Given the description of an element on the screen output the (x, y) to click on. 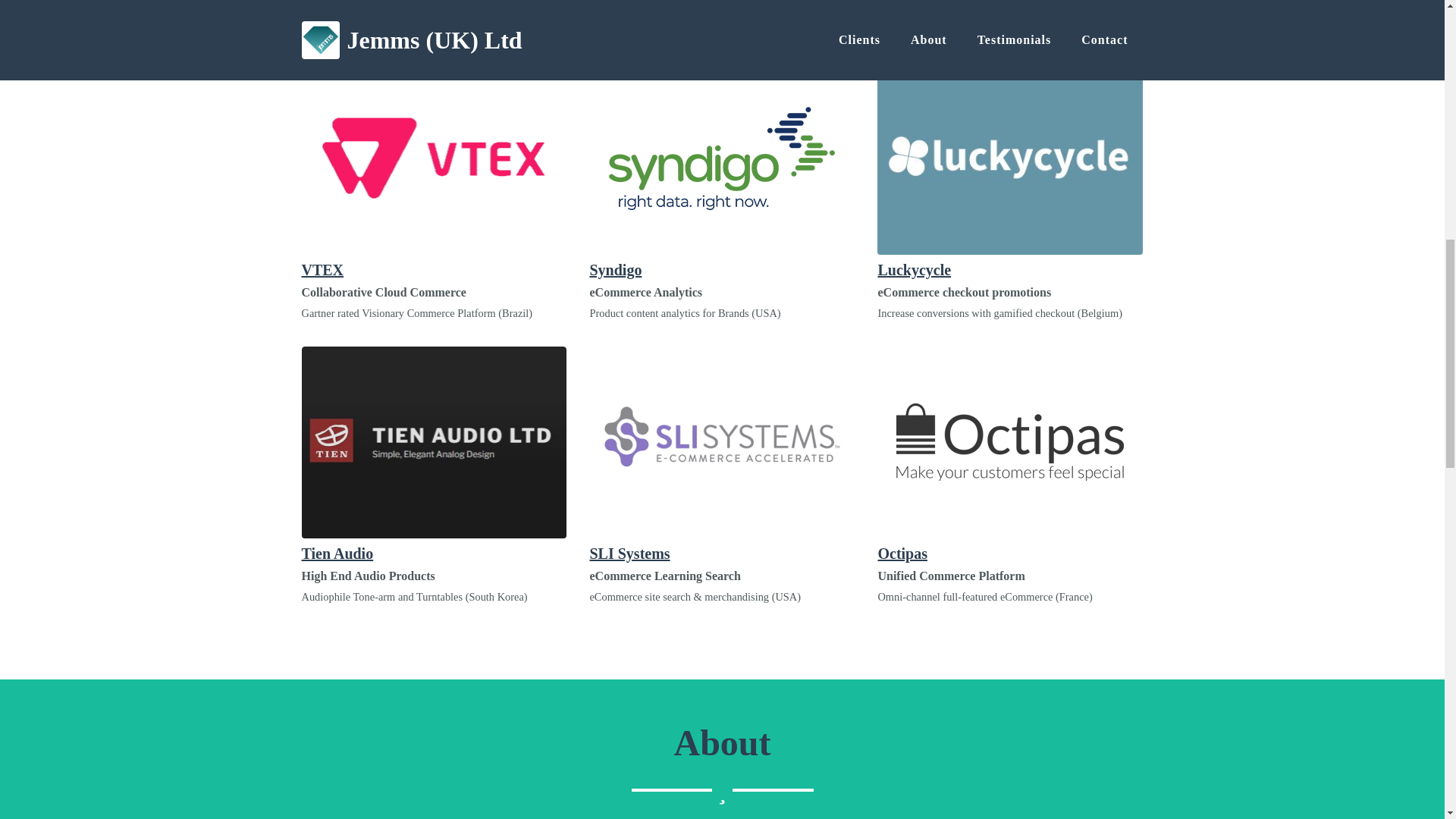
Octipas (1009, 454)
SLI Systems (721, 454)
Luckycycle (1009, 171)
VTEX (434, 171)
Tien Audio (434, 454)
Syndigo (721, 171)
